Given the description of an element on the screen output the (x, y) to click on. 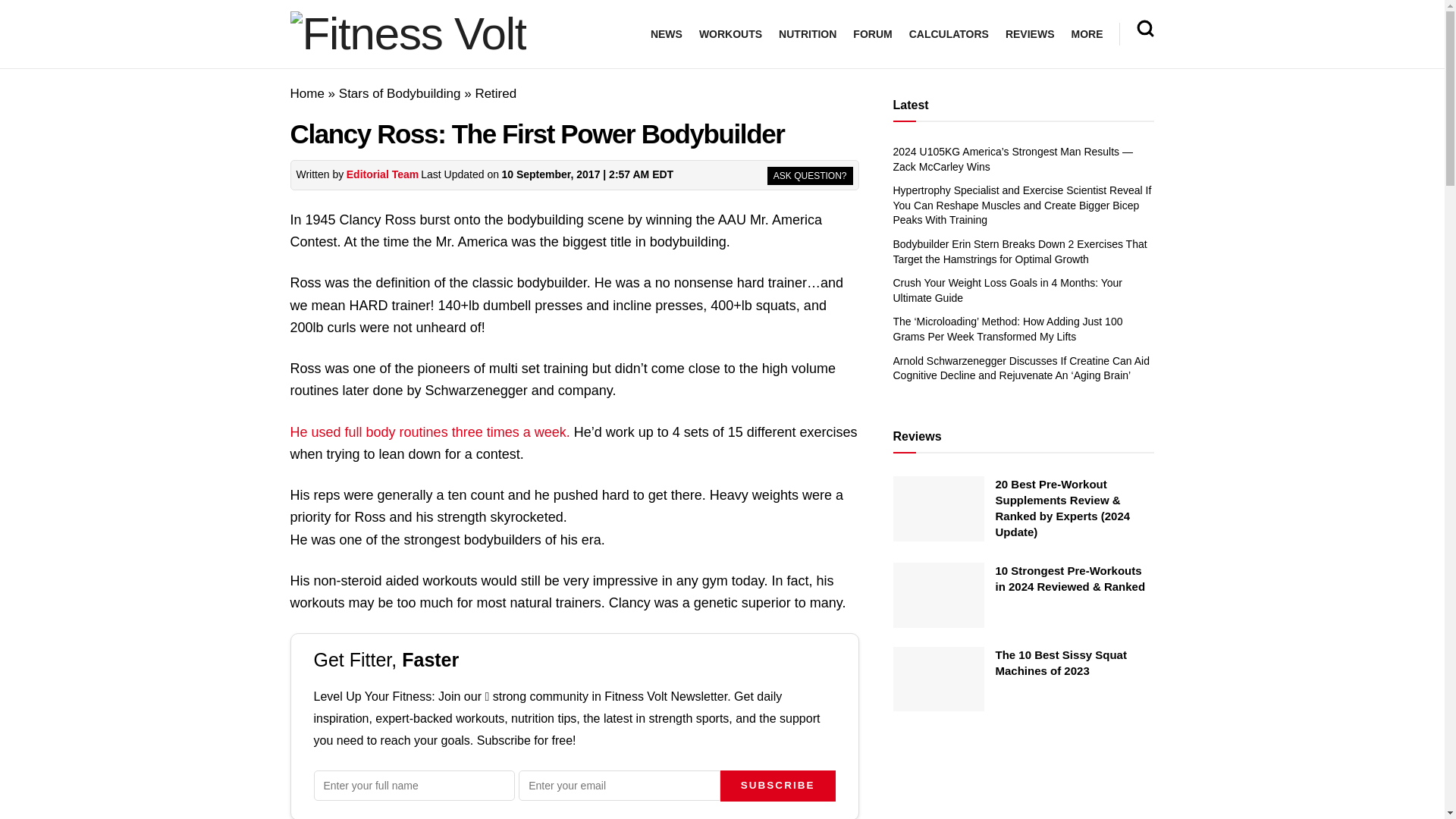
NEWS (666, 34)
CALCULATORS (948, 34)
WORKOUTS (729, 34)
NUTRITION (806, 34)
MORE (1086, 34)
FORUM (872, 34)
REVIEWS (1030, 34)
